Given the description of an element on the screen output the (x, y) to click on. 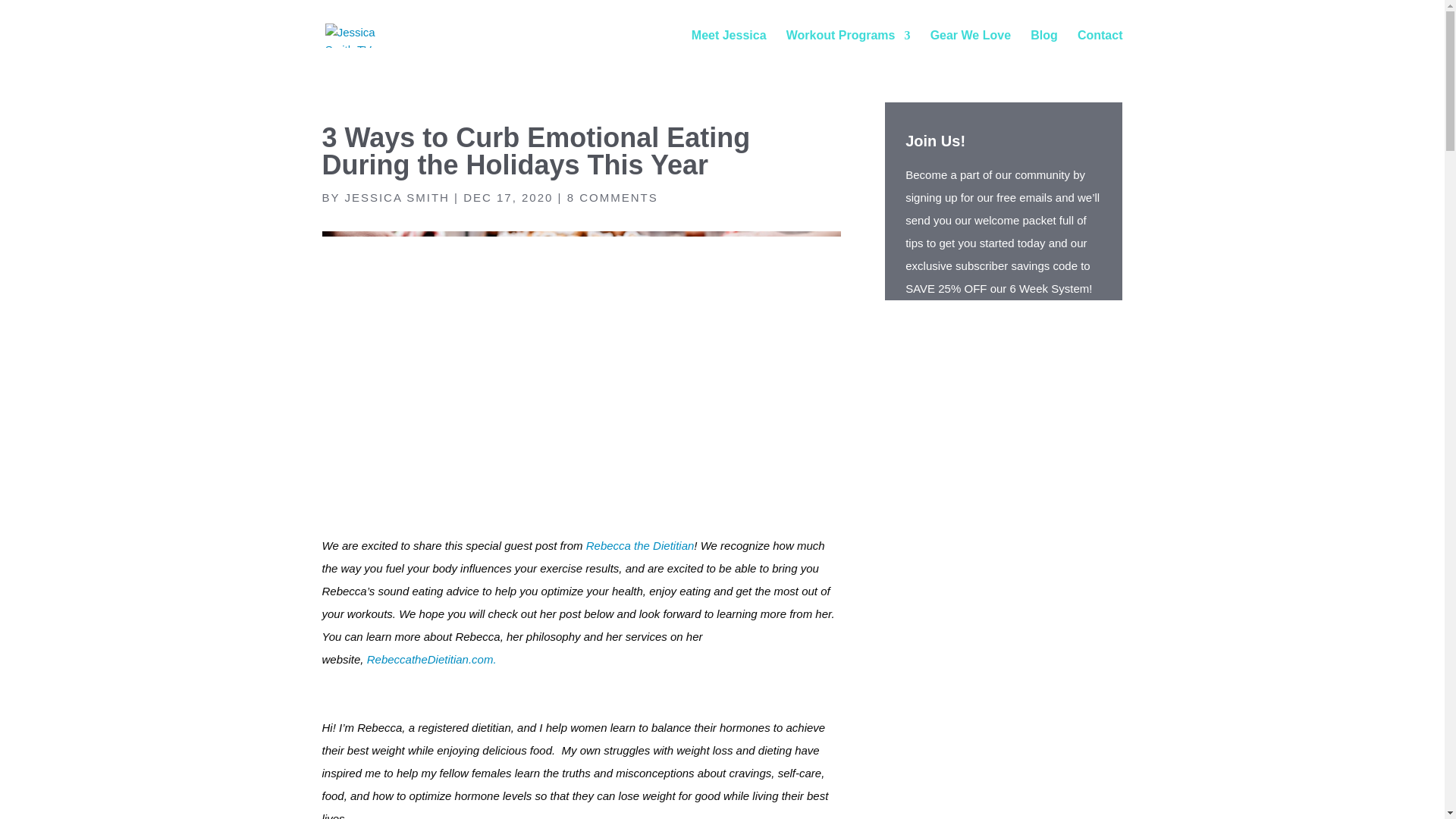
Meet Jessica (729, 46)
Contact (1099, 46)
Posts by Jessica Smith (396, 196)
Rebecca the Dietitian (640, 545)
Workout Programs (848, 46)
Gear We Love (970, 46)
8 COMMENTS (612, 196)
JESSICA SMITH (396, 196)
RebeccatheDietitian.com. (431, 658)
